Given the description of an element on the screen output the (x, y) to click on. 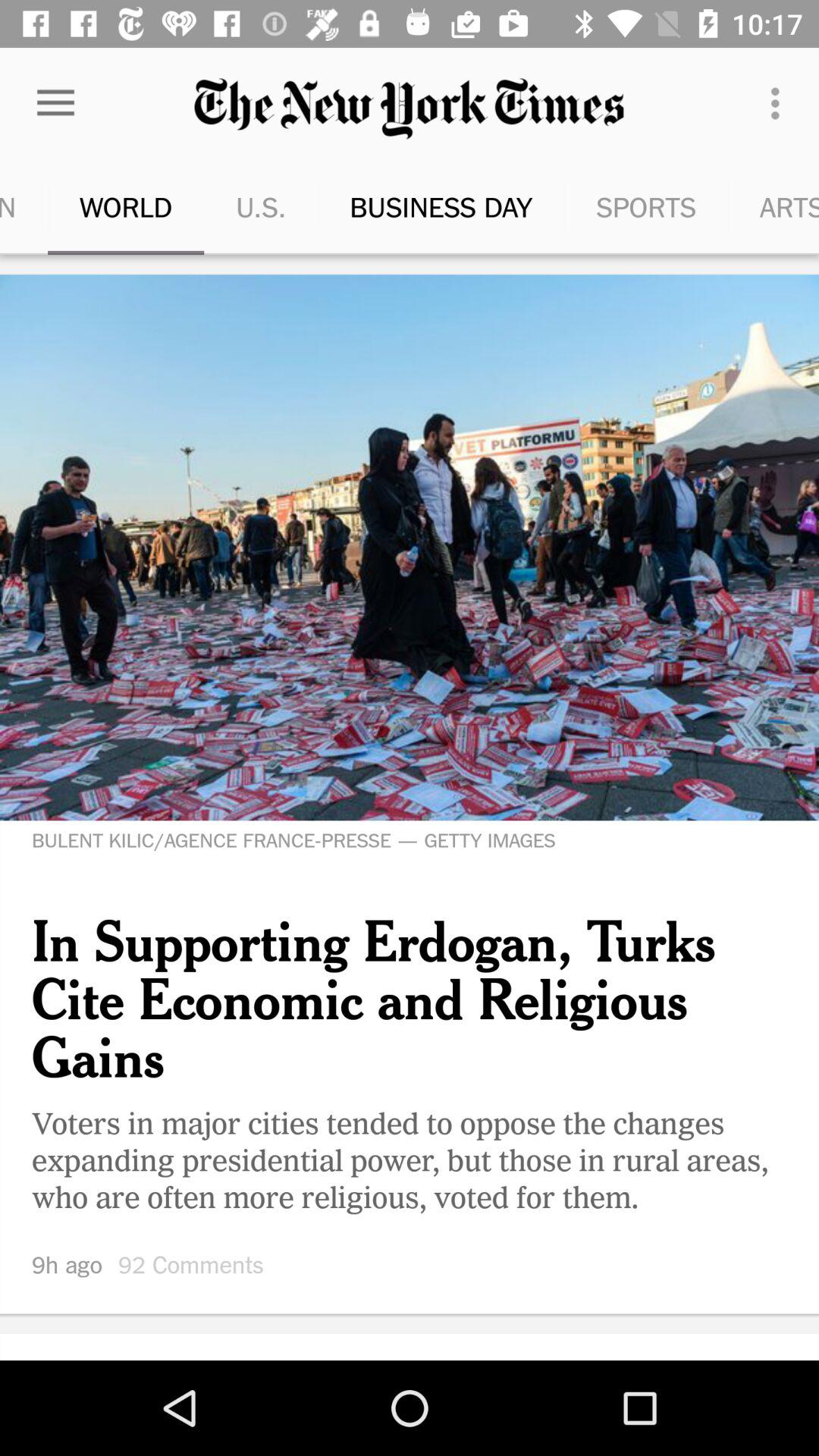
click the item above opinion (55, 103)
